Given the description of an element on the screen output the (x, y) to click on. 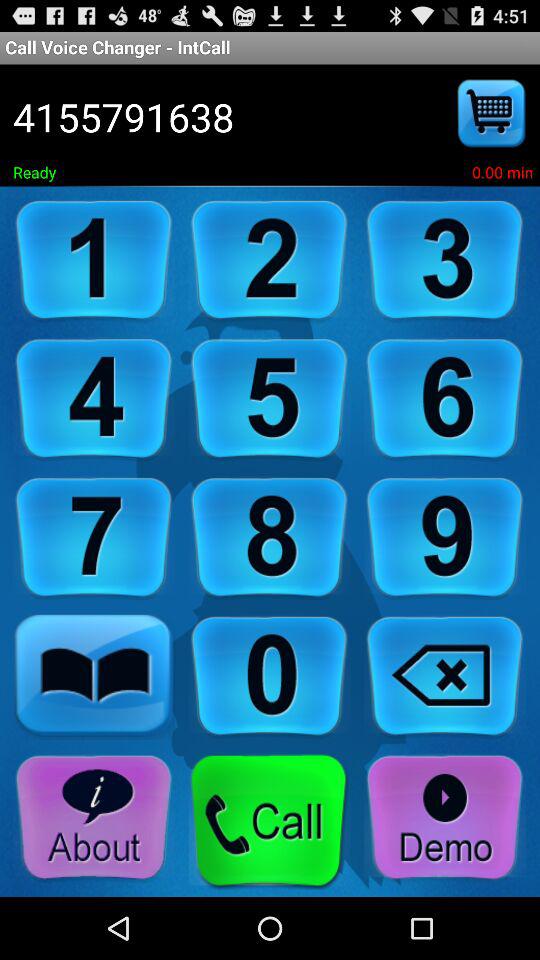
view information screen (94, 818)
